Given the description of an element on the screen output the (x, y) to click on. 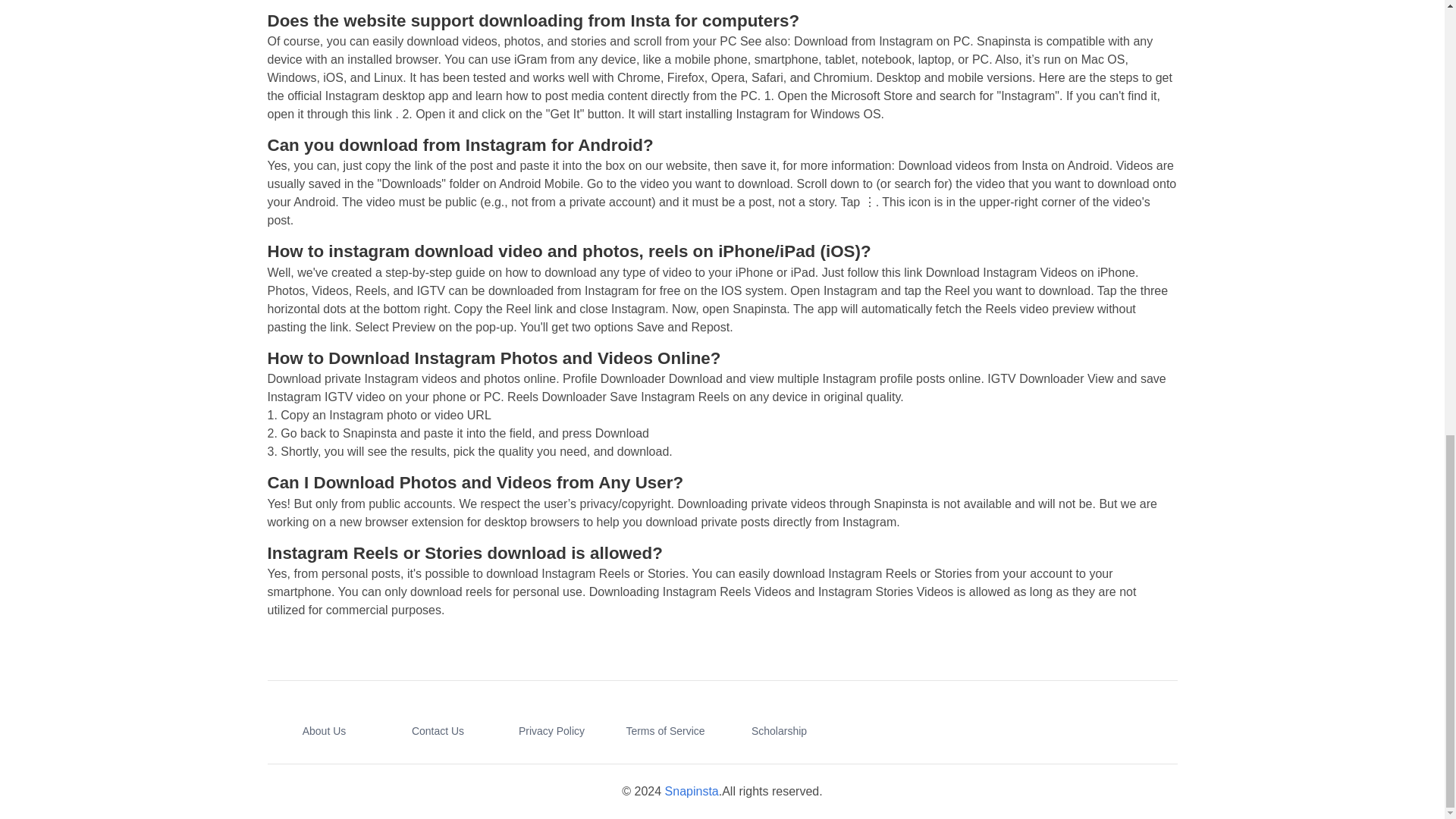
About Us (324, 730)
Snapinsta (692, 790)
Contact Us (438, 730)
